Given the description of an element on the screen output the (x, y) to click on. 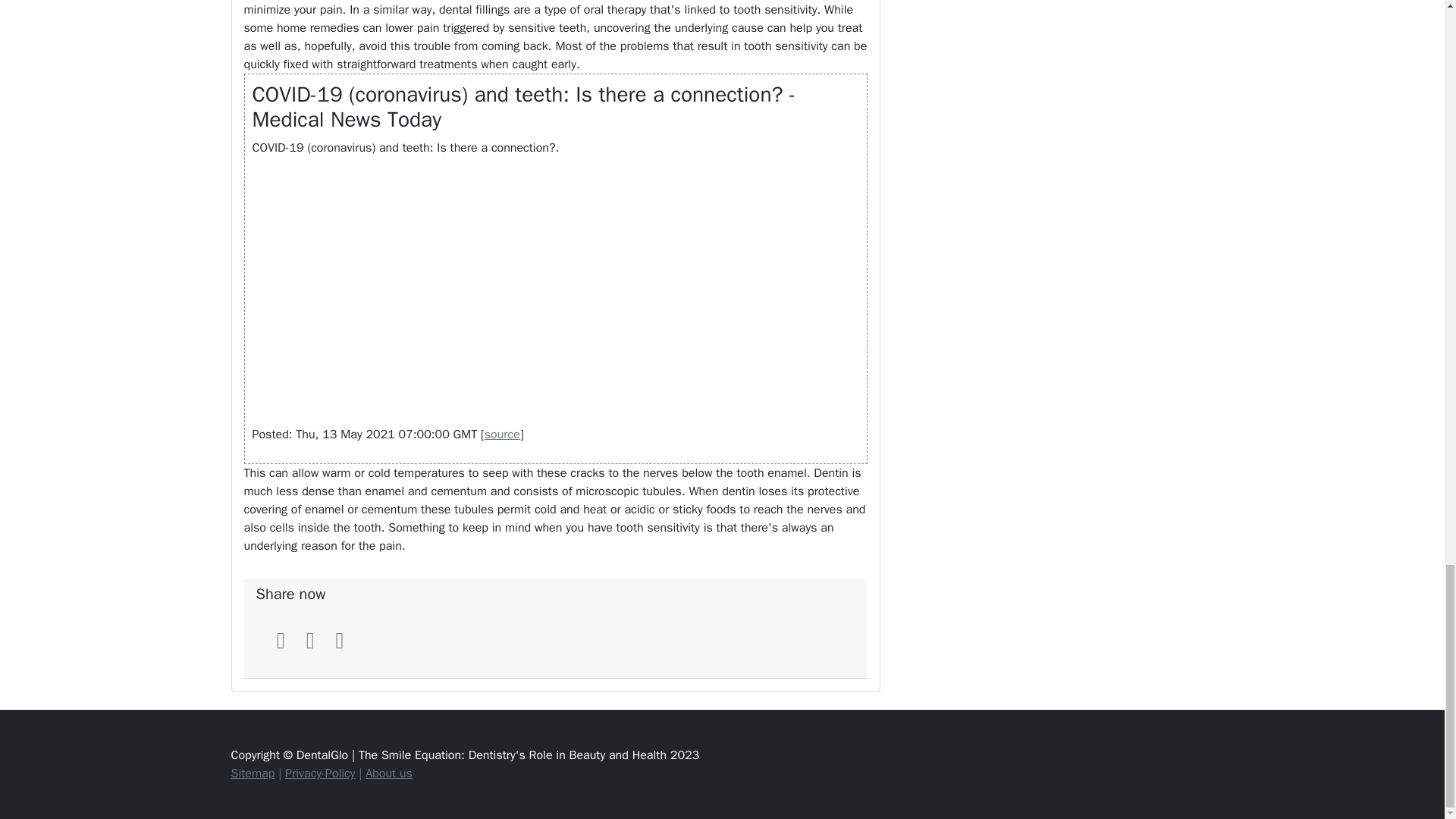
About us (388, 773)
source (501, 434)
Sitemap (252, 773)
Privacy-Policy (320, 773)
